Given the description of an element on the screen output the (x, y) to click on. 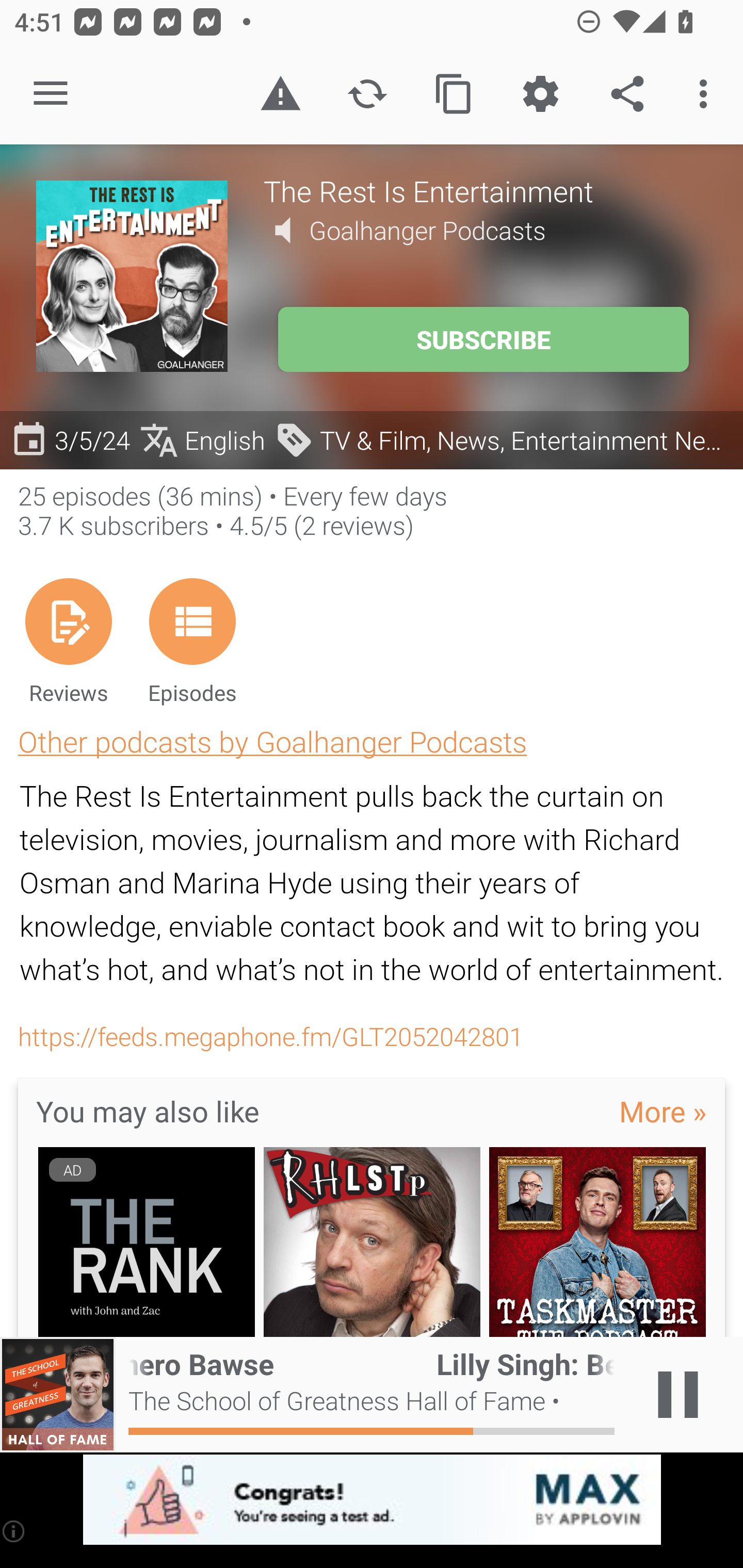
Open navigation sidebar (50, 93)
Report inappropriate content (280, 93)
Refresh podcast description (366, 93)
Copy feed url to clipboard (453, 93)
Custom Settings (540, 93)
Share the podcast (626, 93)
More options (706, 93)
The Rest Is Entertainment (484, 190)
Goalhanger Podcasts (427, 230)
SUBSCRIBE (482, 339)
TV & Film, News, Entertainment News, Arts, Books (504, 439)
Reviews (68, 640)
Episodes (192, 640)
Other podcasts by Goalhanger Podcasts (272, 740)
More » (662, 1110)
AD (145, 1242)
Play / Pause (677, 1394)
app-monetization (371, 1500)
(i) (14, 1531)
